Given the description of an element on the screen output the (x, y) to click on. 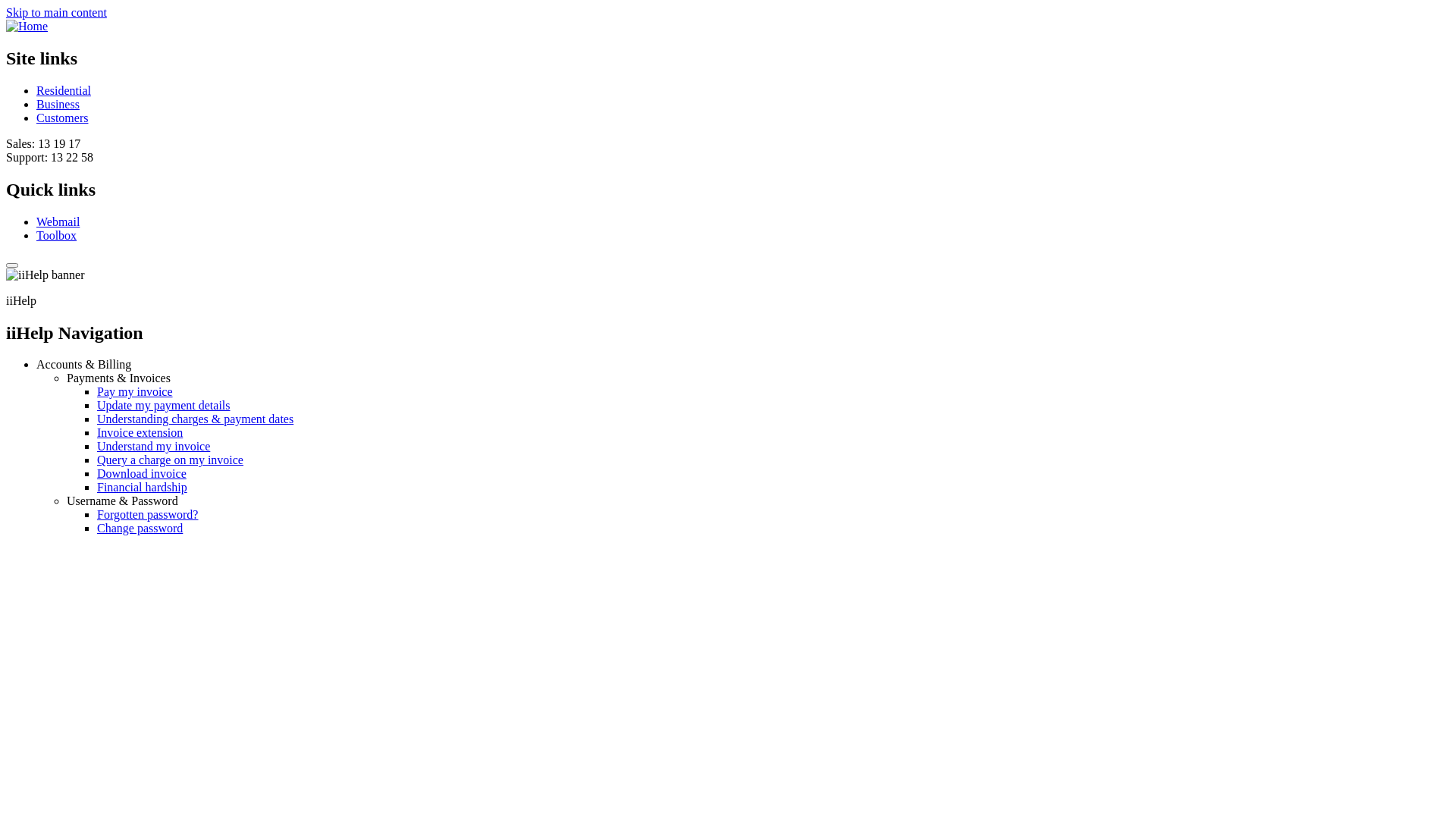
Forgotten password? Element type: text (147, 514)
Pay my invoice Element type: text (134, 391)
Business Element type: text (57, 103)
Download invoice Element type: text (141, 473)
Understand my invoice Element type: text (153, 445)
Home Element type: hover (26, 25)
Residential Element type: text (63, 90)
Understanding charges & payment dates Element type: text (195, 418)
Financial hardship Element type: text (142, 486)
Change password Element type: text (139, 527)
Webmail Element type: text (57, 221)
Update my payment details Element type: text (163, 404)
Query a charge on my invoice Element type: text (170, 459)
Invoice extension Element type: text (139, 432)
Customers Element type: text (61, 117)
Toolbox Element type: text (56, 235)
Skip to main content Element type: text (56, 12)
